Given the description of an element on the screen output the (x, y) to click on. 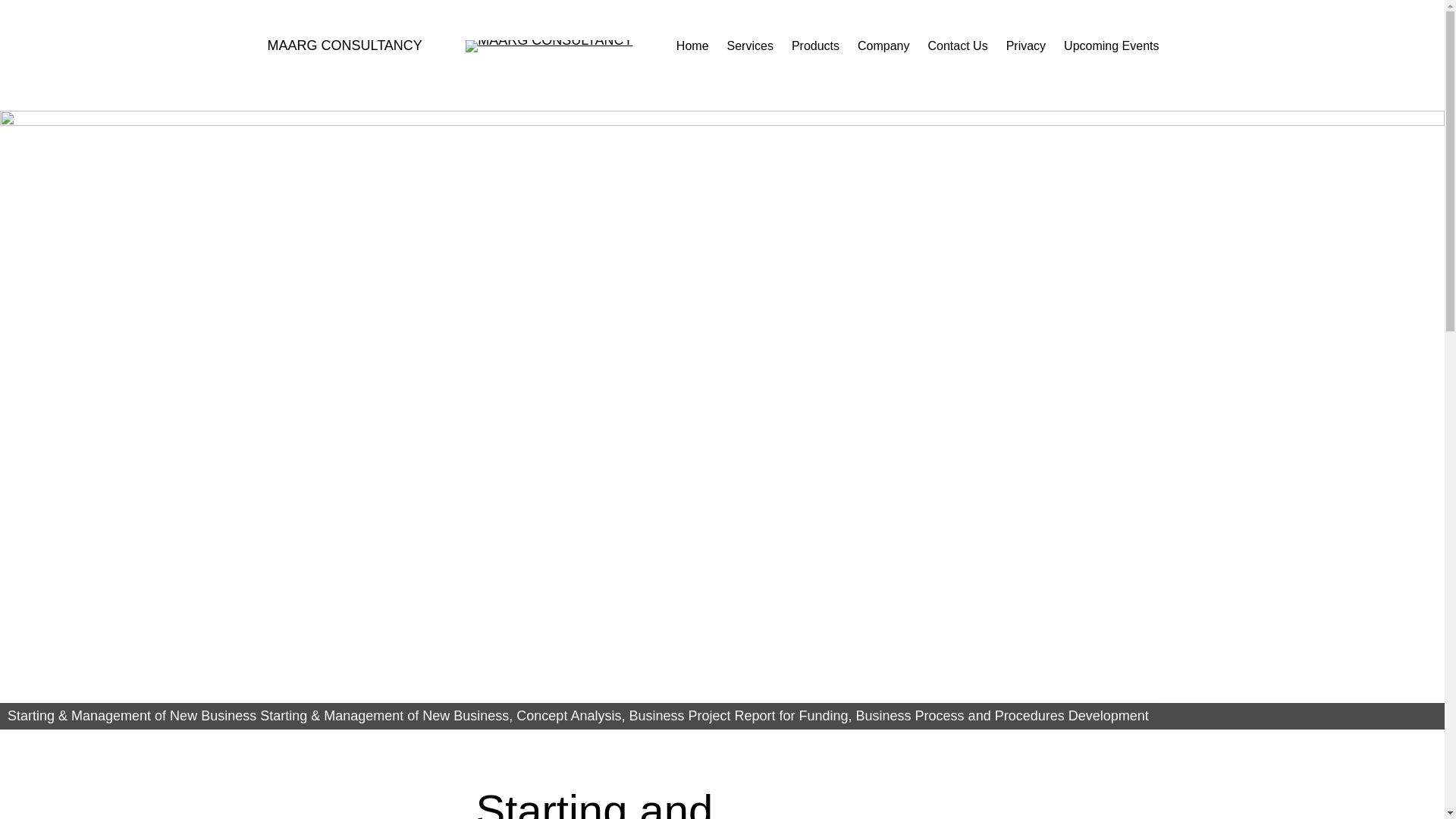
Upcoming Events Element type: text (1110, 46)
Company Element type: text (883, 46)
Services Element type: text (750, 46)
Home Element type: text (692, 46)
Contact Us Element type: text (958, 46)
Products Element type: text (815, 46)
fhome Element type: hover (722, 419)
MAARG CONSULTANCY Element type: text (343, 45)
Privacy Element type: text (1025, 46)
